Given the description of an element on the screen output the (x, y) to click on. 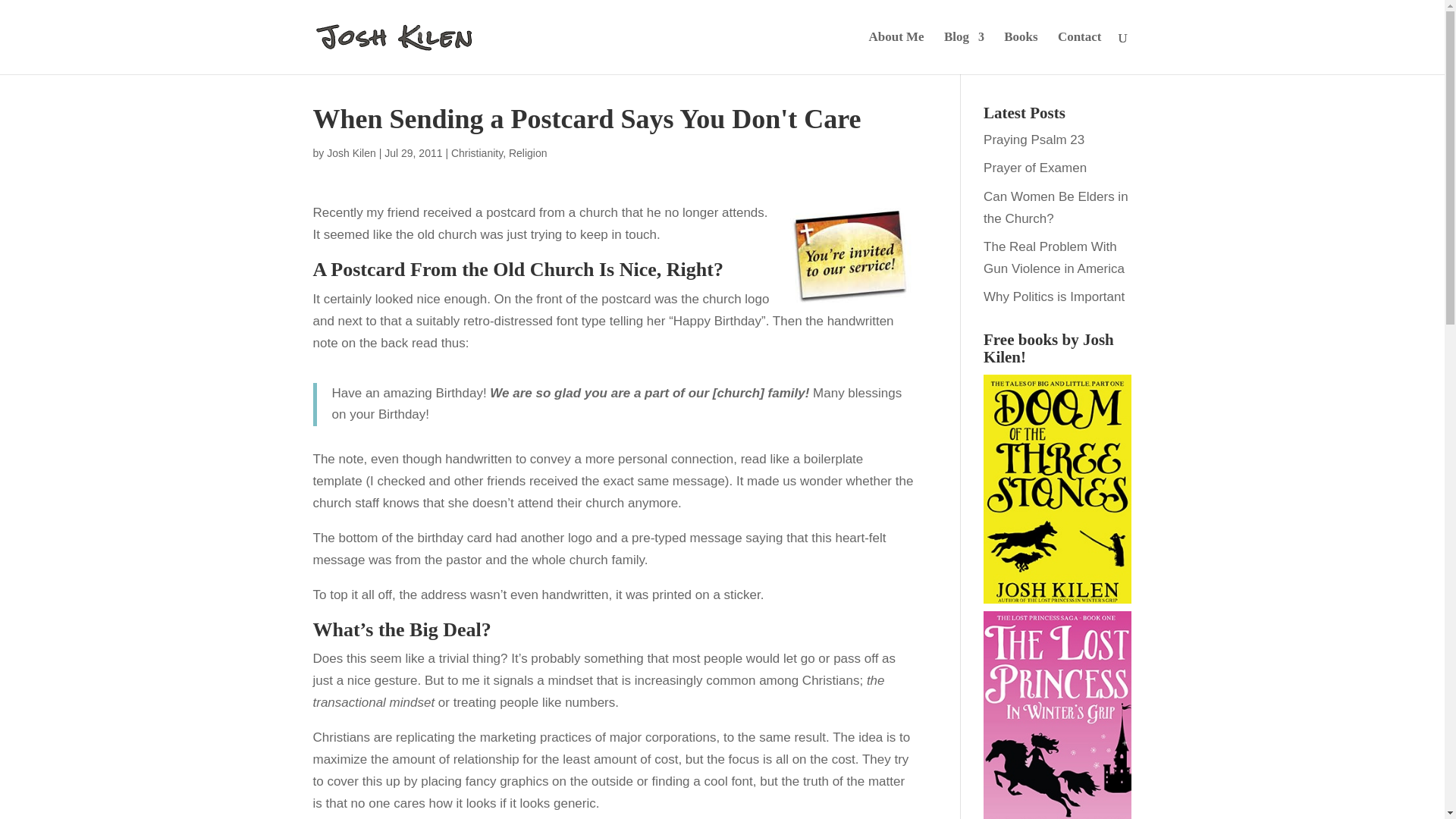
Religion (527, 152)
Posts by Josh Kilen (350, 152)
Praying Psalm 23 (1034, 139)
Contact (1080, 52)
Why Politics is Important (1054, 296)
church postcards (849, 254)
The Real Problem With Gun Violence in America (1054, 257)
Christianity (476, 152)
Can Women Be Elders in the Church? (1056, 207)
About Me (895, 52)
Prayer of Examen (1035, 167)
Josh Kilen (350, 152)
Blog (963, 52)
